Given the description of an element on the screen output the (x, y) to click on. 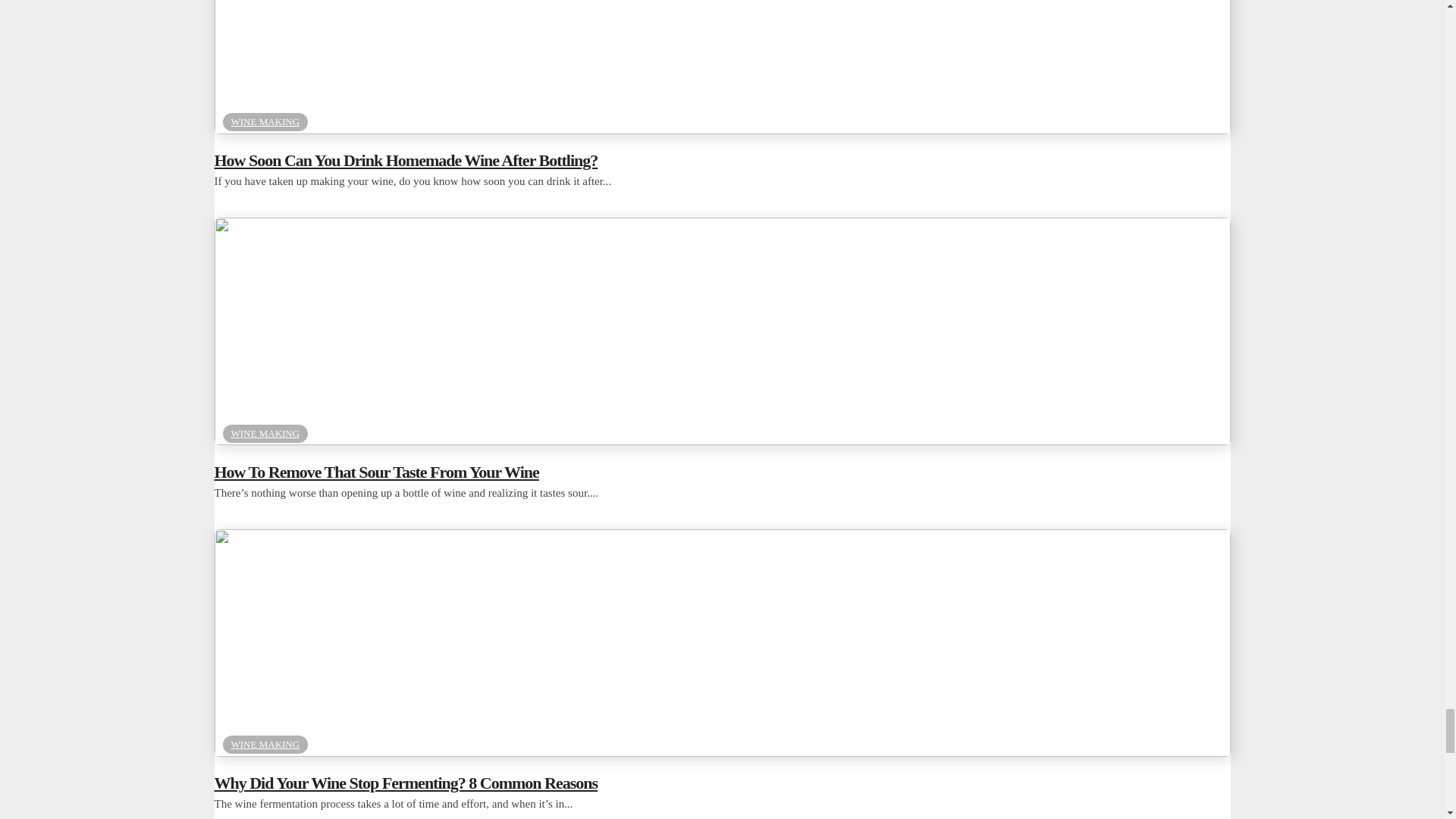
How Soon Can You Drink Homemade Wine After Bottling? (722, 160)
How To Remove That Sour Taste From Your Wine (722, 472)
Why Did Your Wine Stop Fermenting? 8 Common Reasons (722, 783)
Why Did Your Wine Stop Fermenting? 8 Common Reasons (722, 751)
How Soon Can You Drink Homemade Wine After Bottling? (722, 129)
How To Remove That Sour Taste From Your Wine (722, 439)
